Given the description of an element on the screen output the (x, y) to click on. 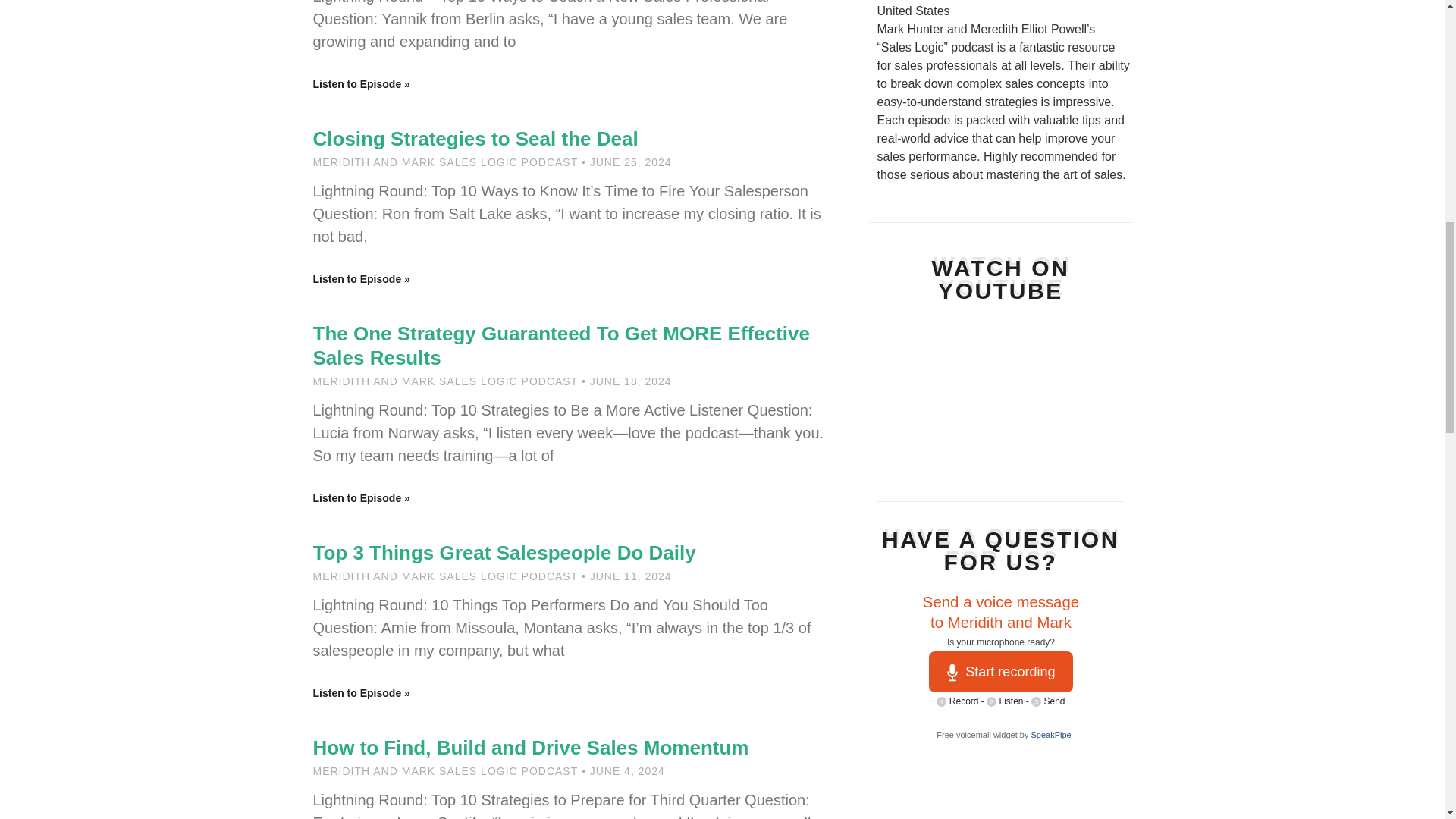
Top 3 Things Great Salespeople Do Daily (504, 552)
YouTube video player (1000, 393)
Closing Strategies to Seal the Deal (475, 138)
How to Find, Build and Drive Sales Momentum (530, 747)
